Given the description of an element on the screen output the (x, y) to click on. 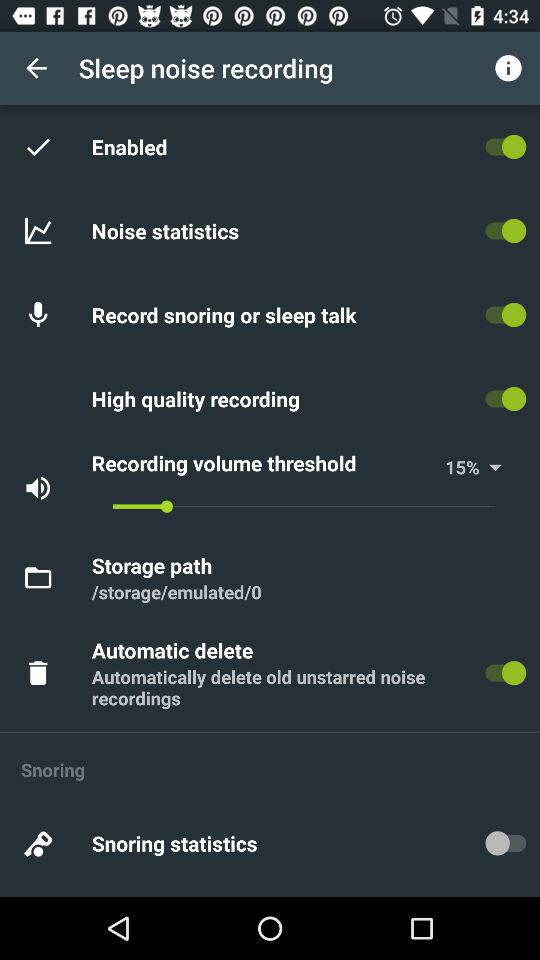
turn off the record snoring or item (227, 314)
